Given the description of an element on the screen output the (x, y) to click on. 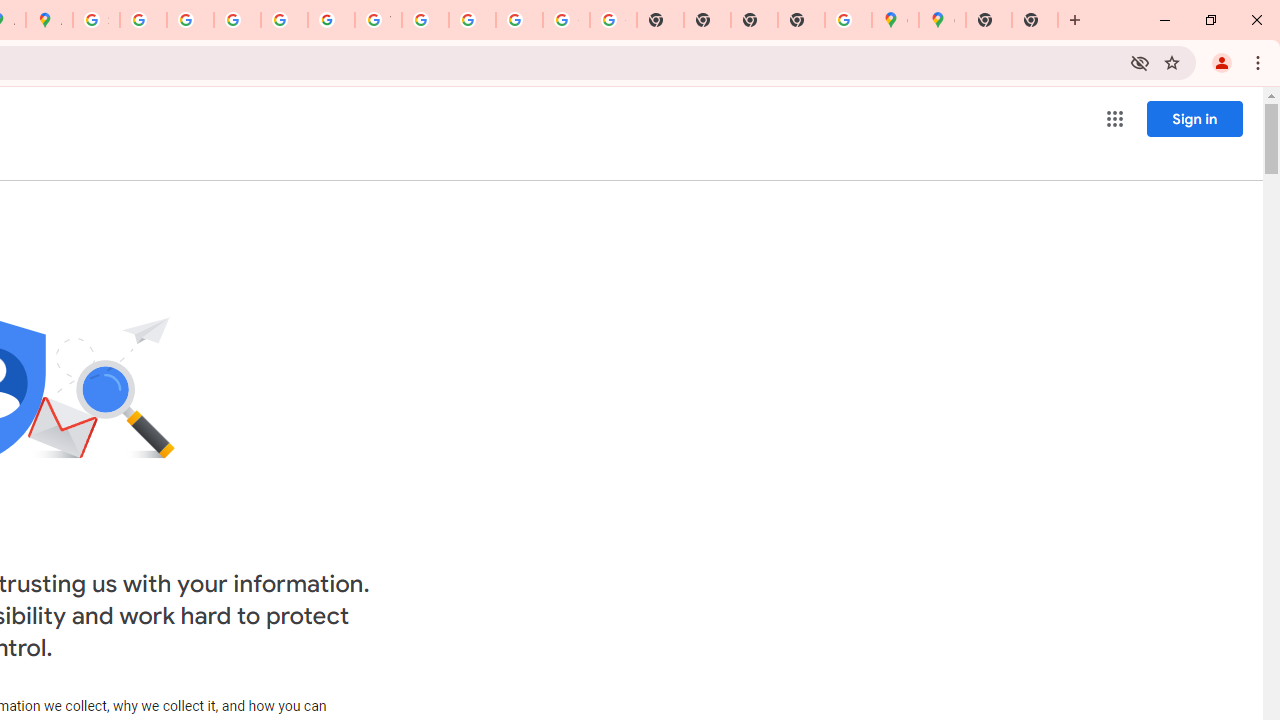
Privacy Help Center - Policies Help (237, 20)
New Tab (801, 20)
